Given the description of an element on the screen output the (x, y) to click on. 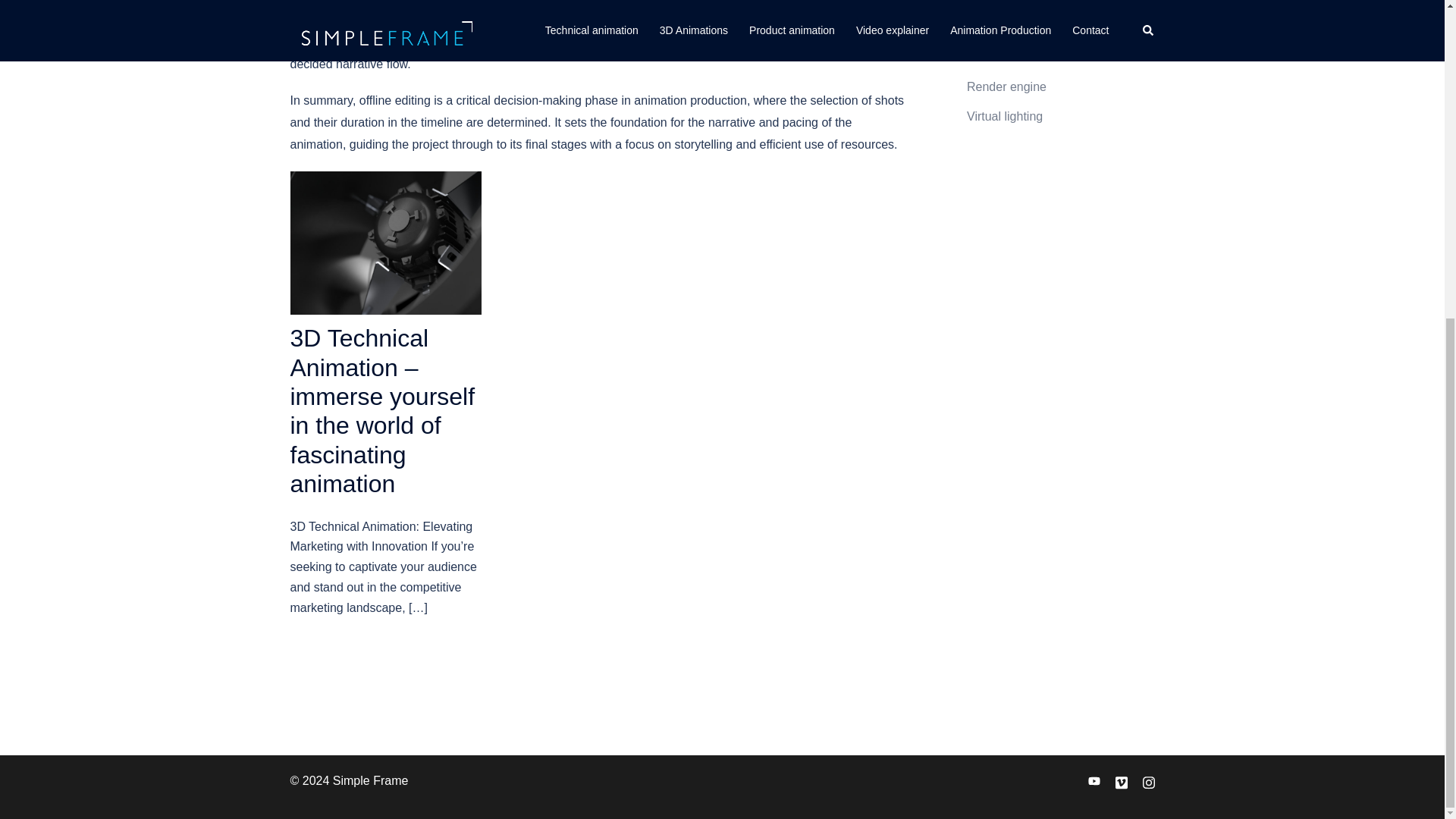
Render engine (1006, 86)
Product animation (1015, 27)
Virtual lighting (1004, 115)
Postproduction (1007, 2)
Product video (1003, 56)
